Given the description of an element on the screen output the (x, y) to click on. 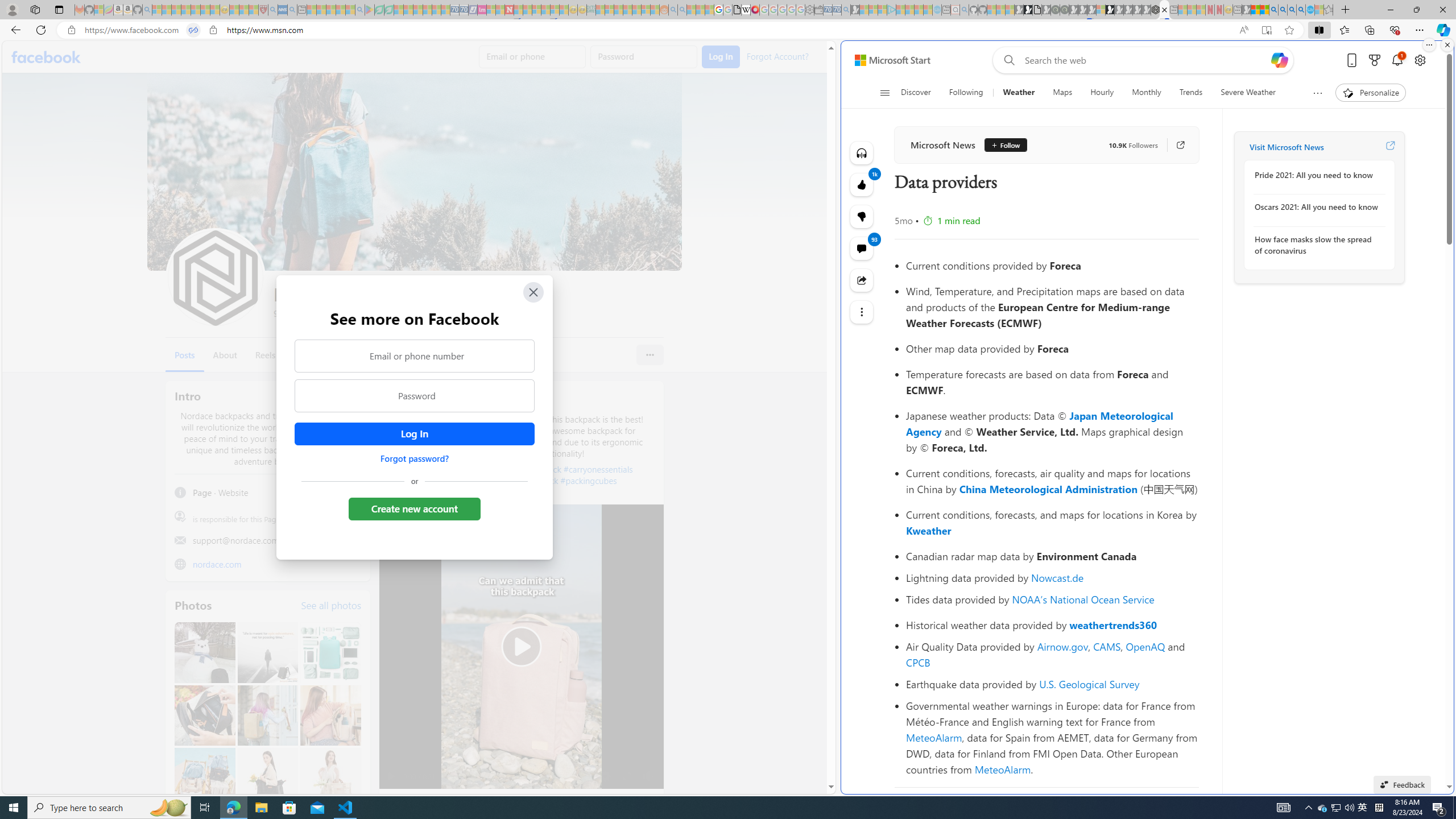
Microsoft Start Gaming - Sleeping (854, 9)
Open Copilot (1279, 59)
Future Focus Report 2024 - Sleeping (1064, 9)
Microsoft-Report a Concern to Bing - Sleeping (98, 9)
2009 Bing officially replaced Live Search on June 3 - Search (1283, 9)
Weather (1019, 92)
Cheap Car Rentals - Save70.com - Sleeping (836, 9)
Split screen (1318, 29)
Oscars 2021: All you need to know (1316, 206)
